Given the description of an element on the screen output the (x, y) to click on. 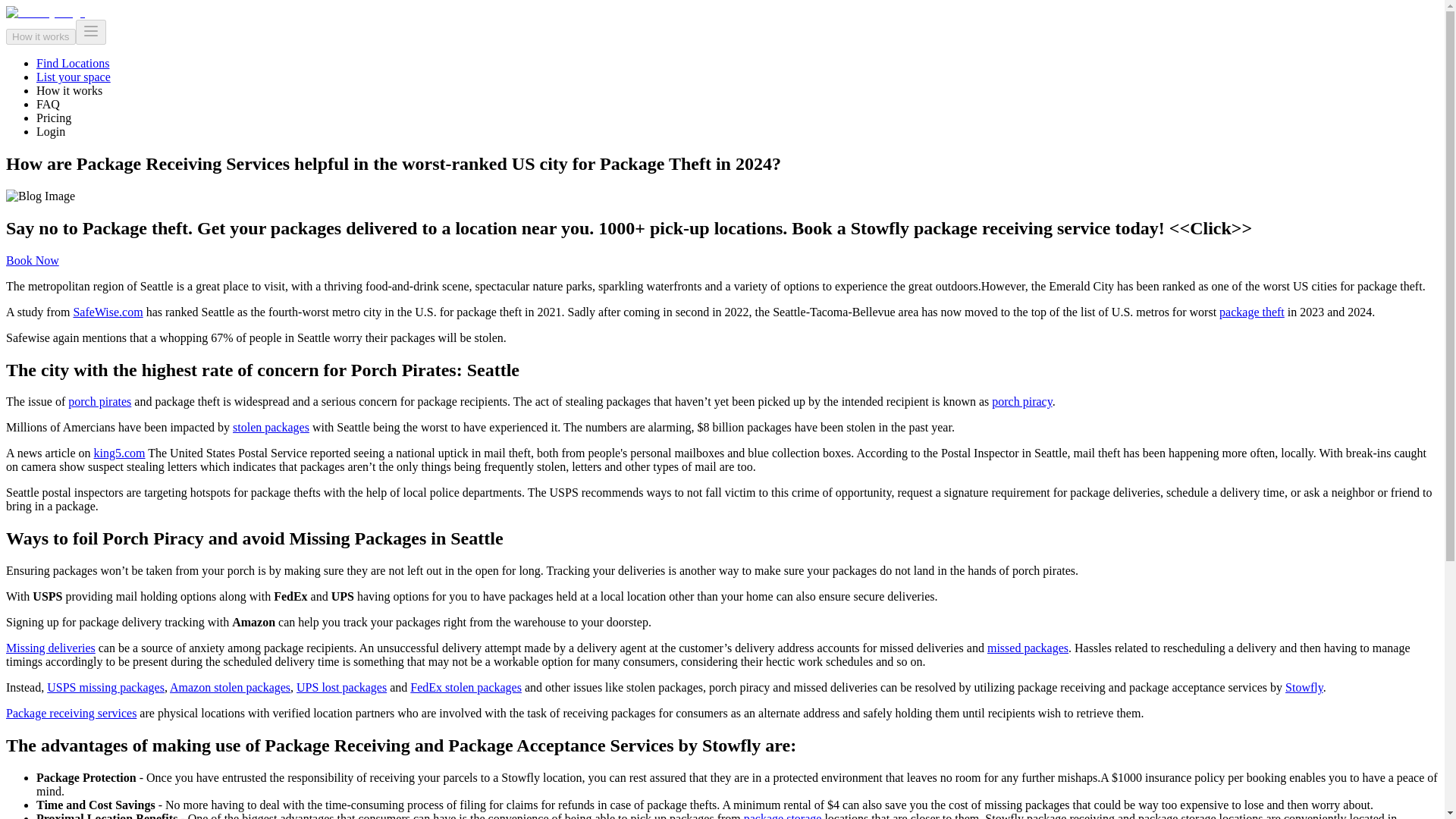
USPS missing packages (105, 686)
porch pirates (99, 400)
Package receiving services (70, 712)
How it works (68, 90)
missed packages (1027, 647)
SafeWise.com (107, 311)
stolen packages (270, 427)
FAQ (47, 103)
Find Locations (72, 62)
How it works (40, 36)
FedEx stolen packages (465, 686)
package theft (1252, 311)
king5.com (119, 452)
Missing deliveries (50, 647)
List your space (73, 76)
